Given the description of an element on the screen output the (x, y) to click on. 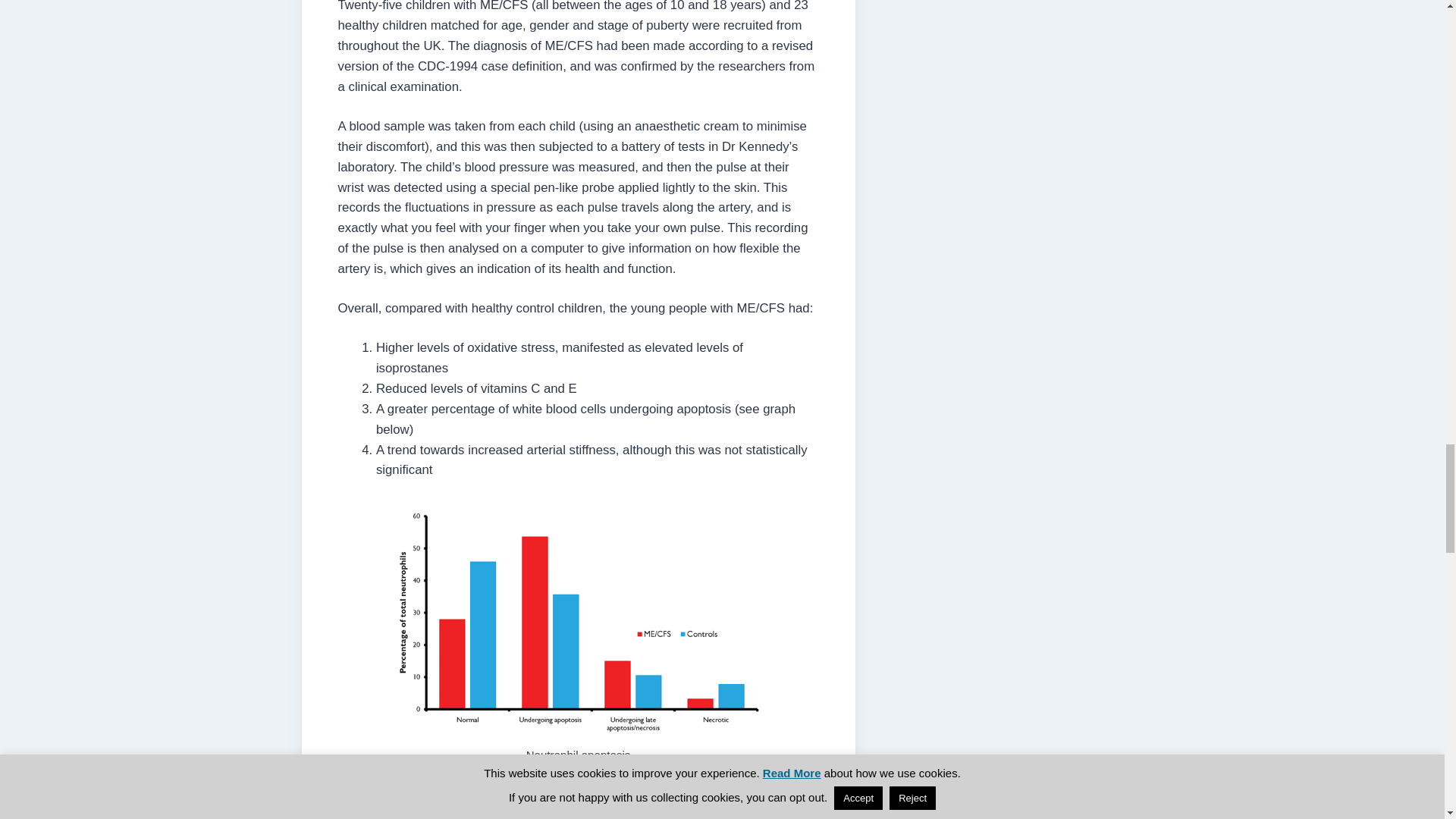
Neutrophil apoptosis (577, 618)
